Given the description of an element on the screen output the (x, y) to click on. 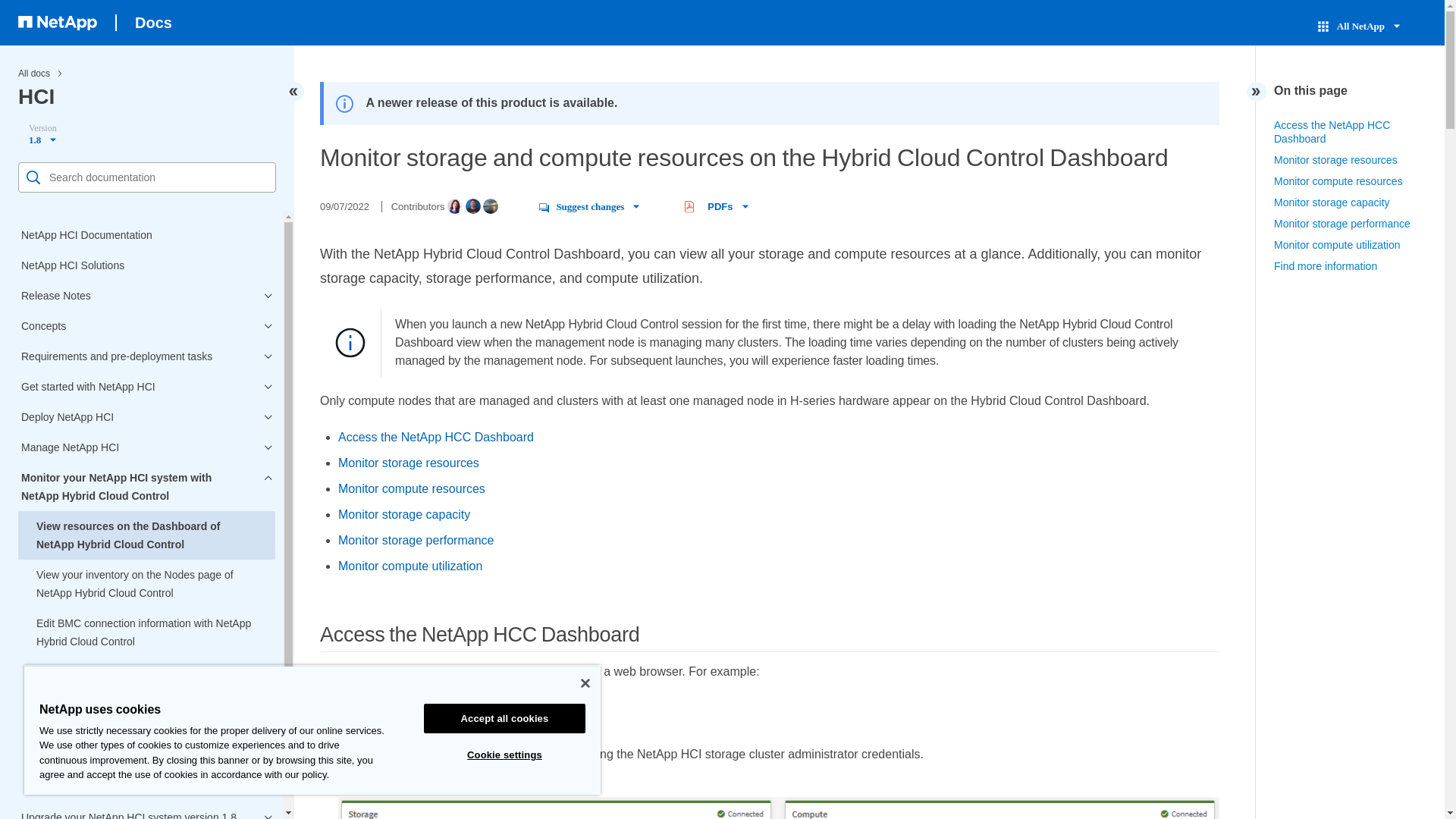
Docs (153, 22)
Release Notes (146, 295)
NetApp HCI Solutions (146, 265)
Concepts (146, 326)
All docs (33, 72)
NetApp HCI Documentation (146, 235)
Requirements and pre-deployment tasks (146, 356)
 1.8 (44, 133)
